Given the description of an element on the screen output the (x, y) to click on. 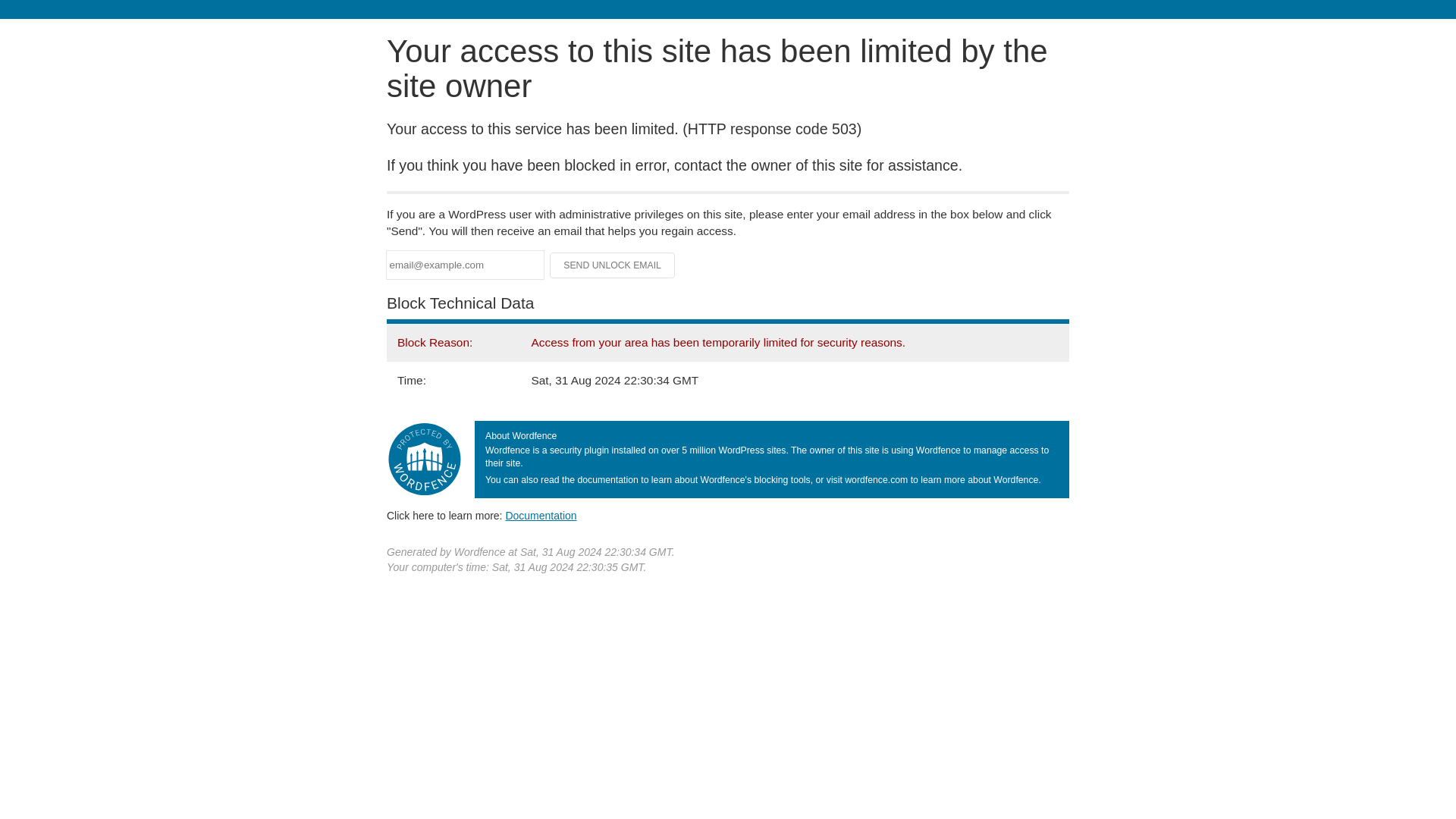
Documentation (540, 515)
Send Unlock Email (612, 265)
Send Unlock Email (612, 265)
